Given the description of an element on the screen output the (x, y) to click on. 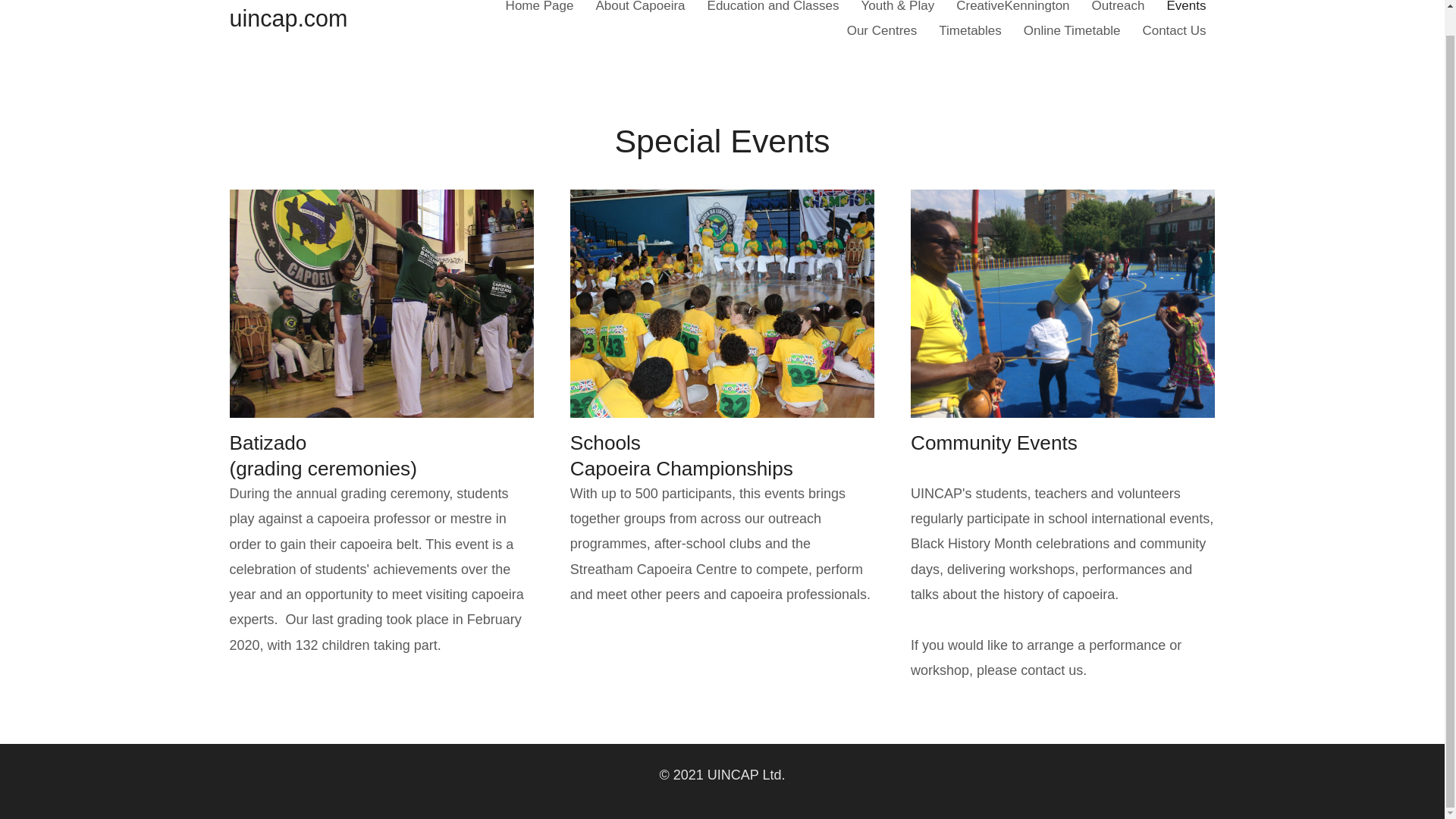
CreativeKennington (1012, 9)
Outreach (1118, 9)
Online Timetable (1071, 30)
Home Page (539, 9)
Contact Us (1173, 30)
Timetables (970, 30)
Events (1186, 9)
About Capoeira (640, 9)
Education and Classes (773, 9)
uincap.com (287, 17)
